Given the description of an element on the screen output the (x, y) to click on. 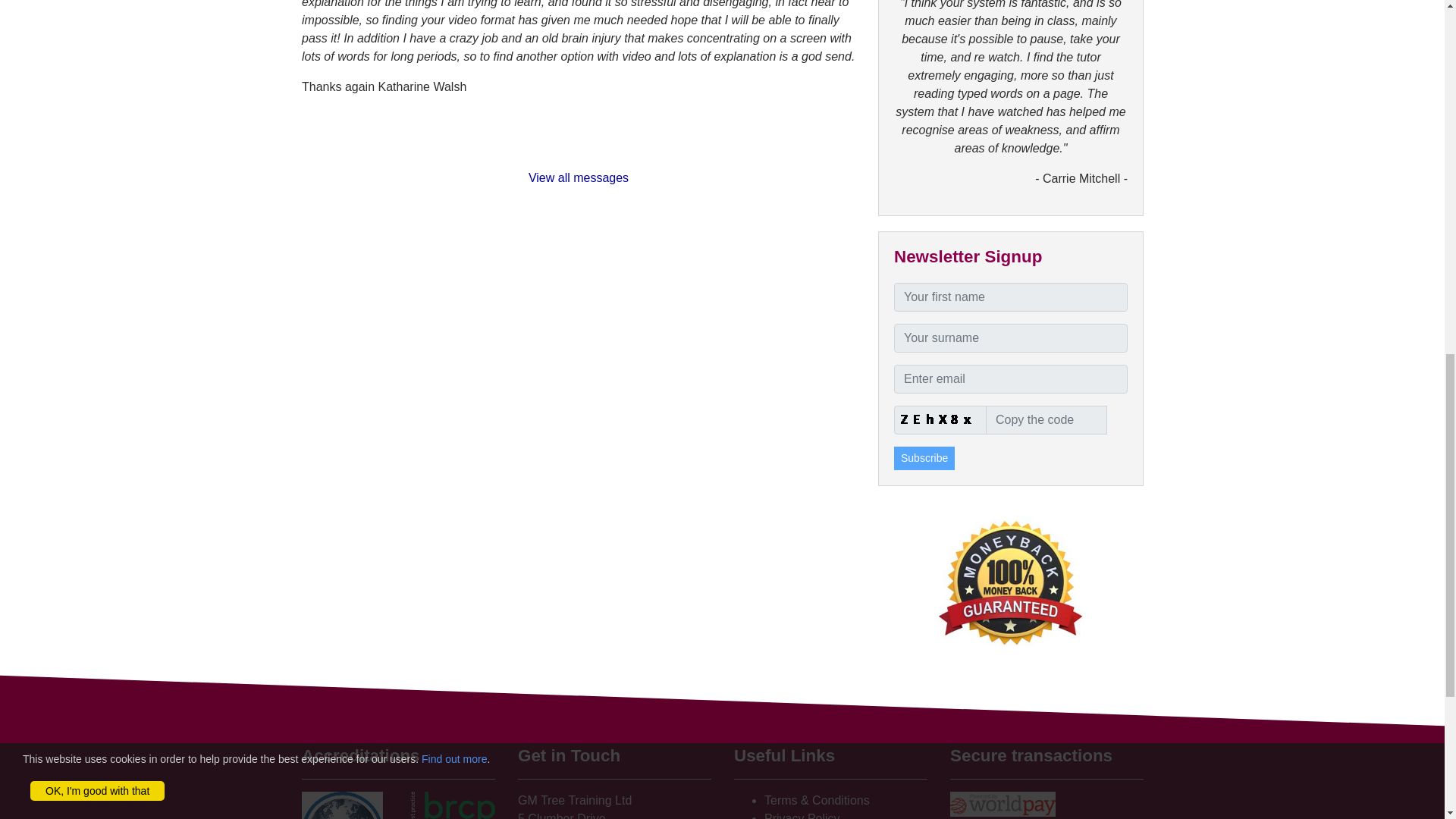
View all messages (577, 177)
Subscribe (923, 458)
